Given the description of an element on the screen output the (x, y) to click on. 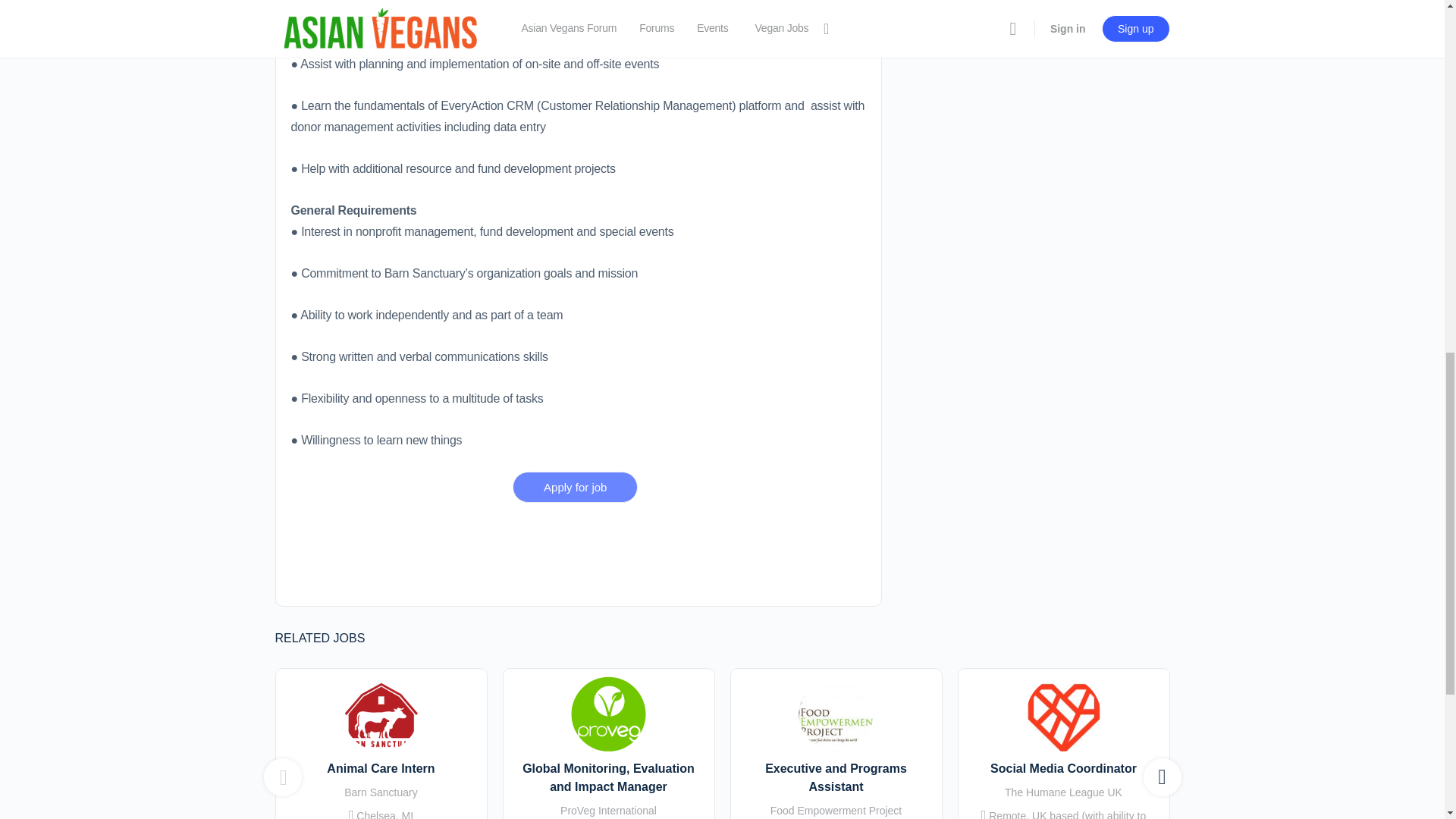
Apply for job (574, 486)
